Given the description of an element on the screen output the (x, y) to click on. 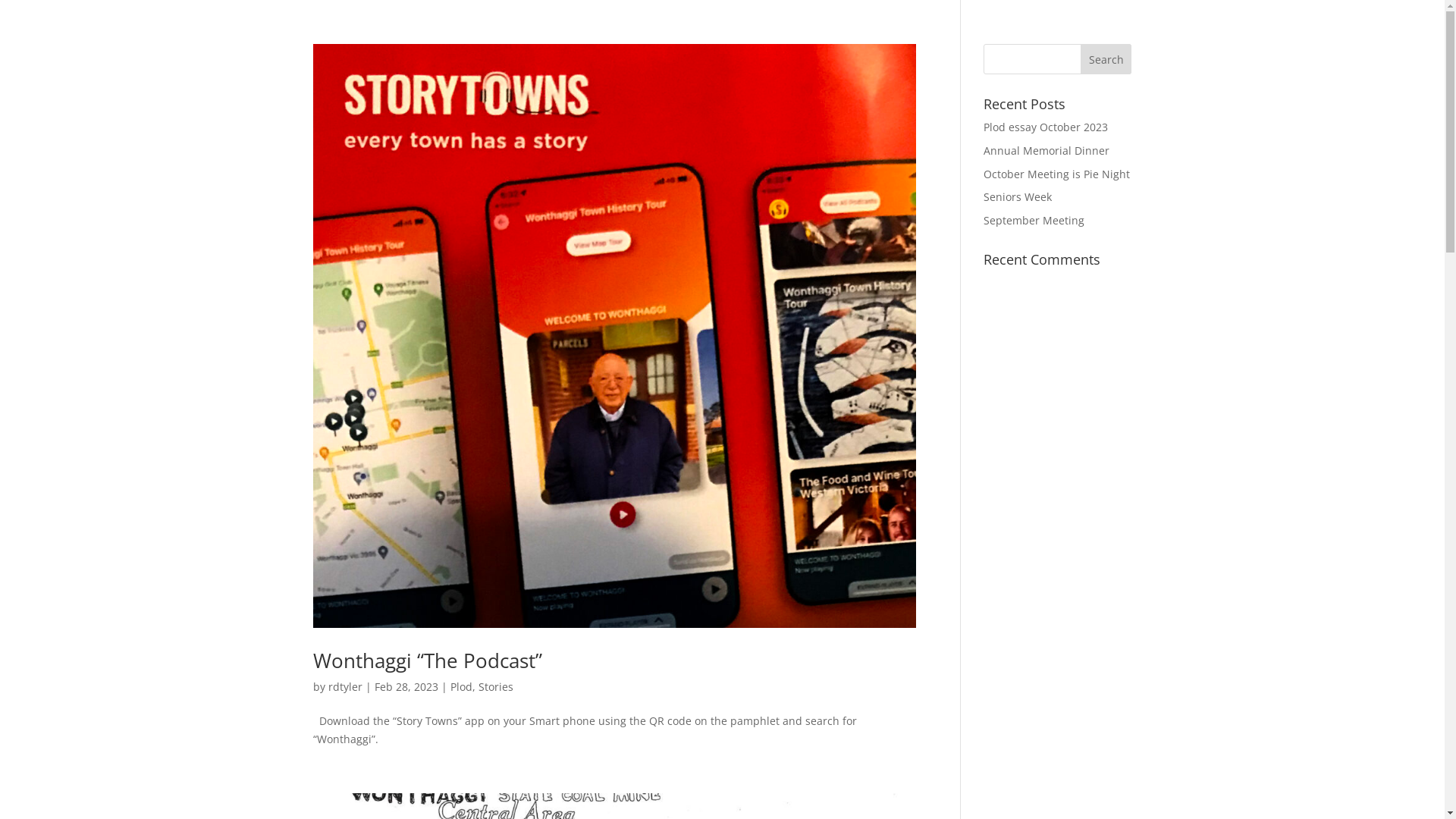
Seniors Week Element type: text (1017, 196)
October Meeting is Pie Night Element type: text (1056, 173)
Plod Element type: text (461, 686)
Stories Element type: text (494, 686)
Search Element type: text (1106, 58)
September Meeting Element type: text (1033, 220)
rdtyler Element type: text (344, 686)
Plod essay October 2023 Element type: text (1045, 126)
Annual Memorial Dinner Element type: text (1046, 150)
